Given the description of an element on the screen output the (x, y) to click on. 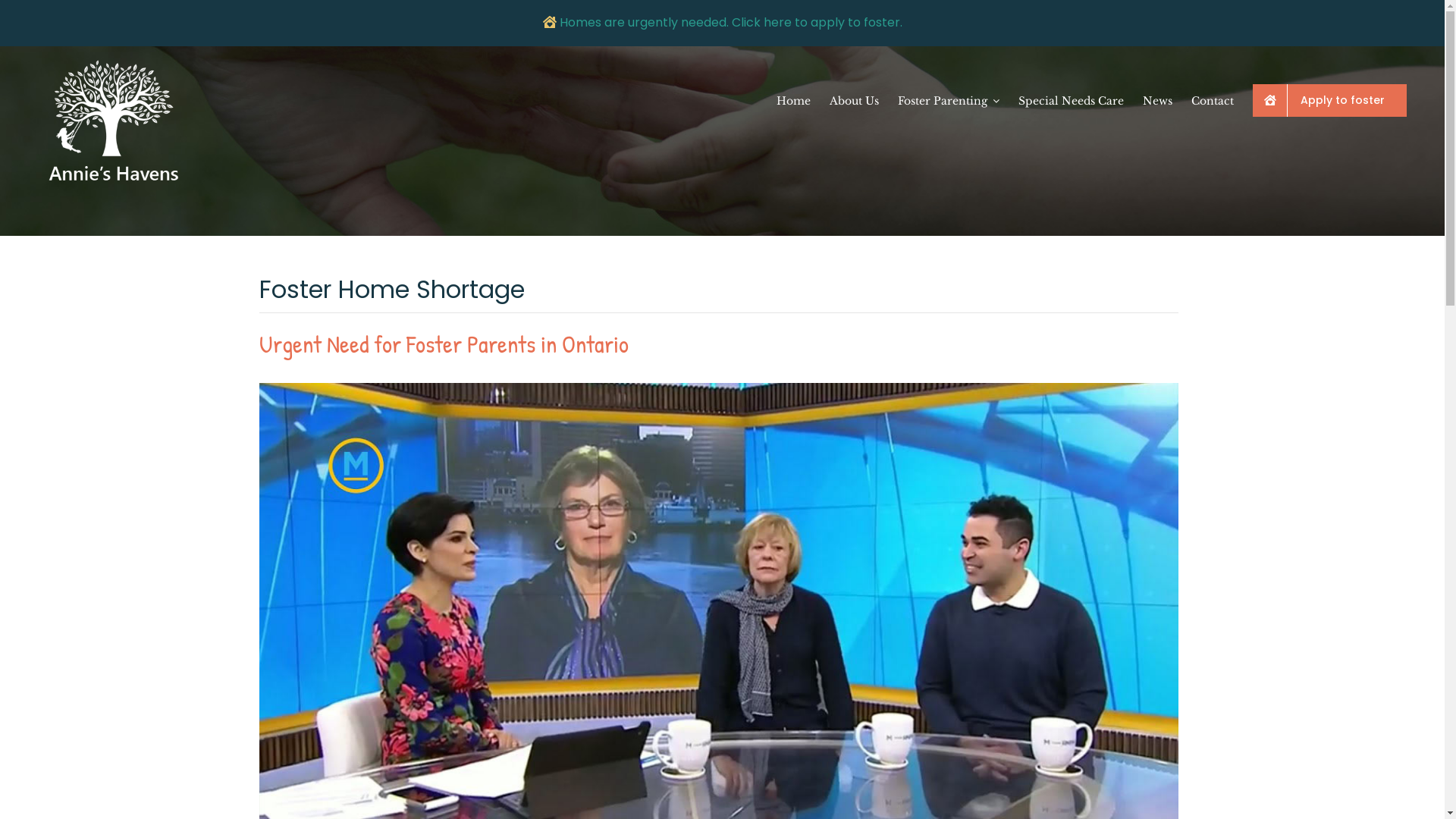
Contact Element type: text (1212, 97)
About Us Element type: text (853, 97)
Home Element type: text (793, 97)
News Element type: text (1157, 97)
Apply to foster Element type: text (1329, 100)
Special Needs Care Element type: text (1070, 97)
Foster Parenting Element type: text (948, 97)
